Given the description of an element on the screen output the (x, y) to click on. 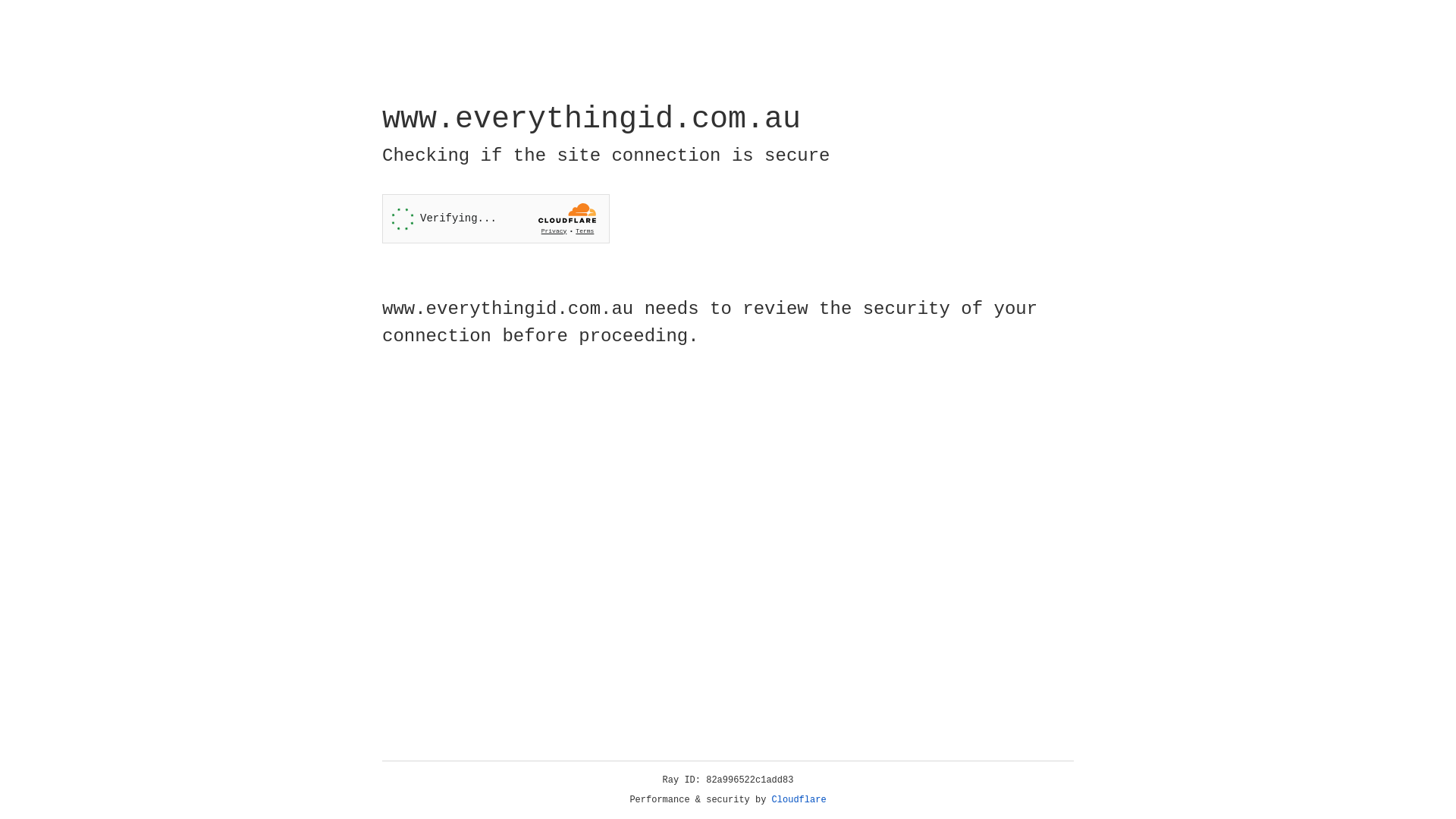
Widget containing a Cloudflare security challenge Element type: hover (495, 218)
Cloudflare Element type: text (798, 799)
